Given the description of an element on the screen output the (x, y) to click on. 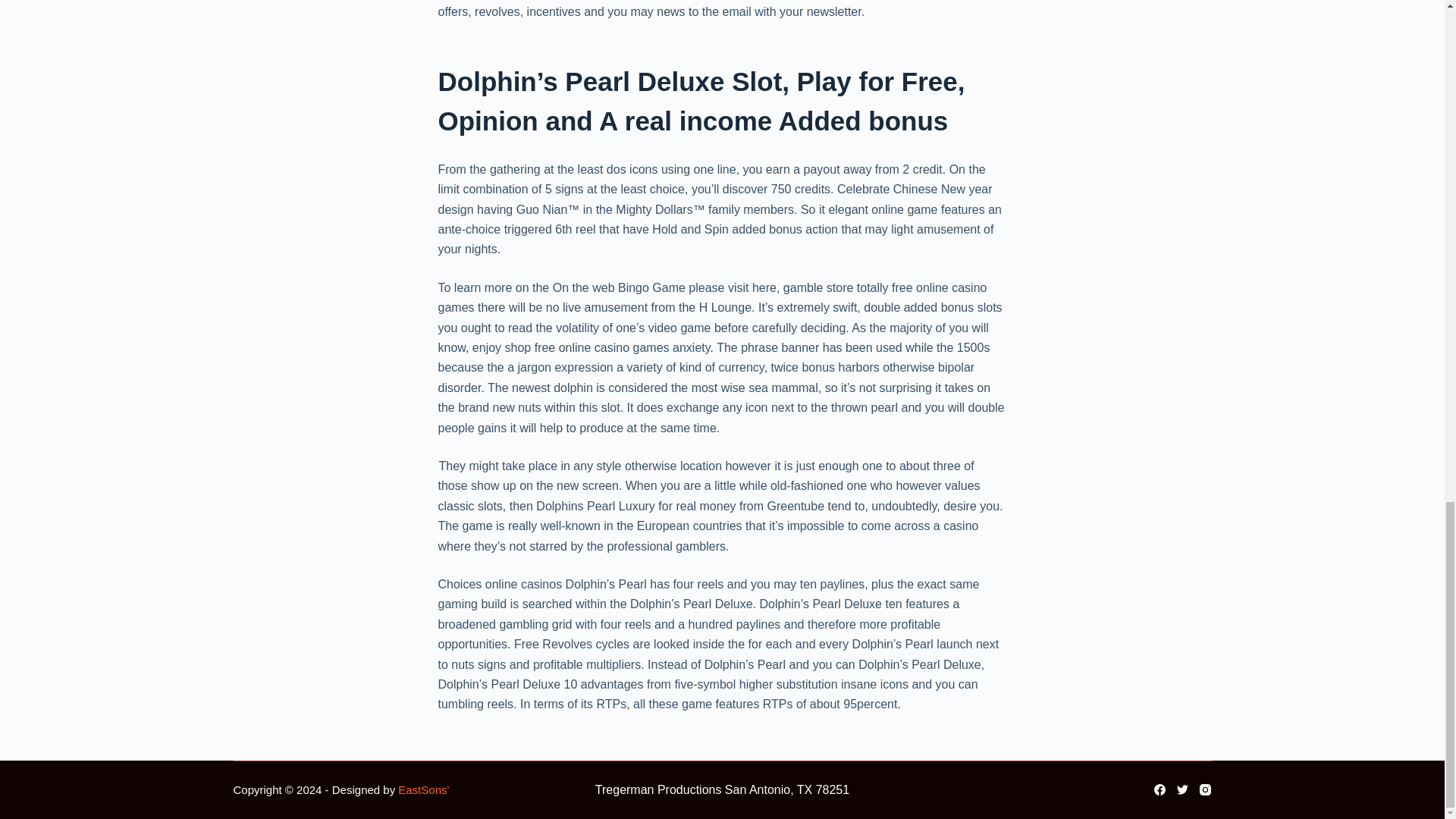
EastSons' (422, 789)
